Given the description of an element on the screen output the (x, y) to click on. 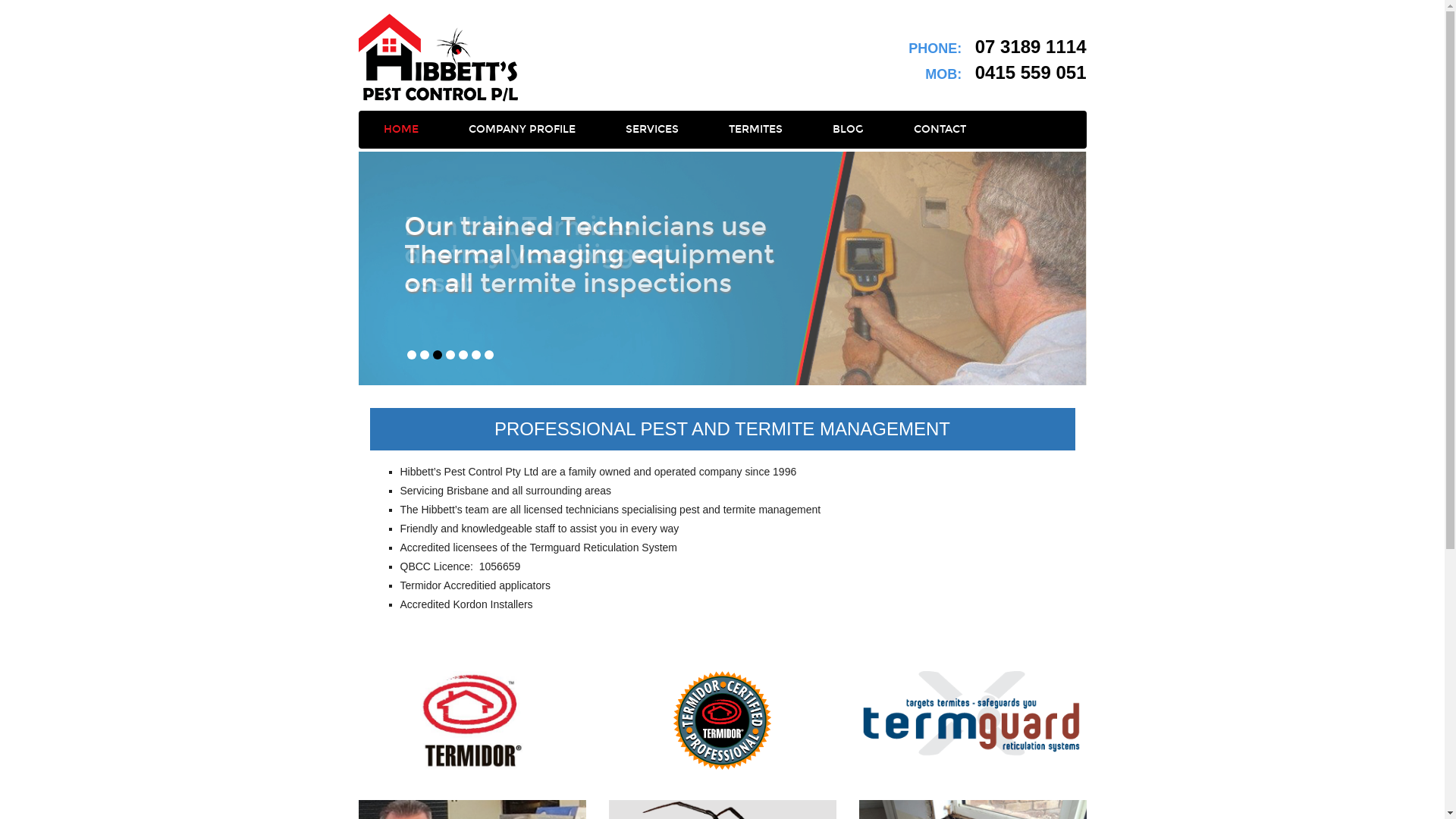
Hibbett's Pest Contol P/L Element type: hover (438, 57)
3 Element type: text (436, 354)
07 3189 1114 Element type: text (1030, 46)
HOME Element type: text (399, 129)
6 Element type: text (475, 354)
BLOG Element type: text (847, 129)
2 Element type: text (424, 354)
SERVICES Element type: text (651, 129)
4 Element type: text (450, 354)
TERMITES Element type: text (755, 129)
5 Element type: text (462, 354)
Don't let Termites destroy your biggest asset Element type: hover (721, 268)
7 Element type: text (487, 354)
CONTACT Element type: text (939, 129)
COMPANY PROFILE Element type: text (520, 129)
1 Element type: text (410, 354)
